Given the description of an element on the screen output the (x, y) to click on. 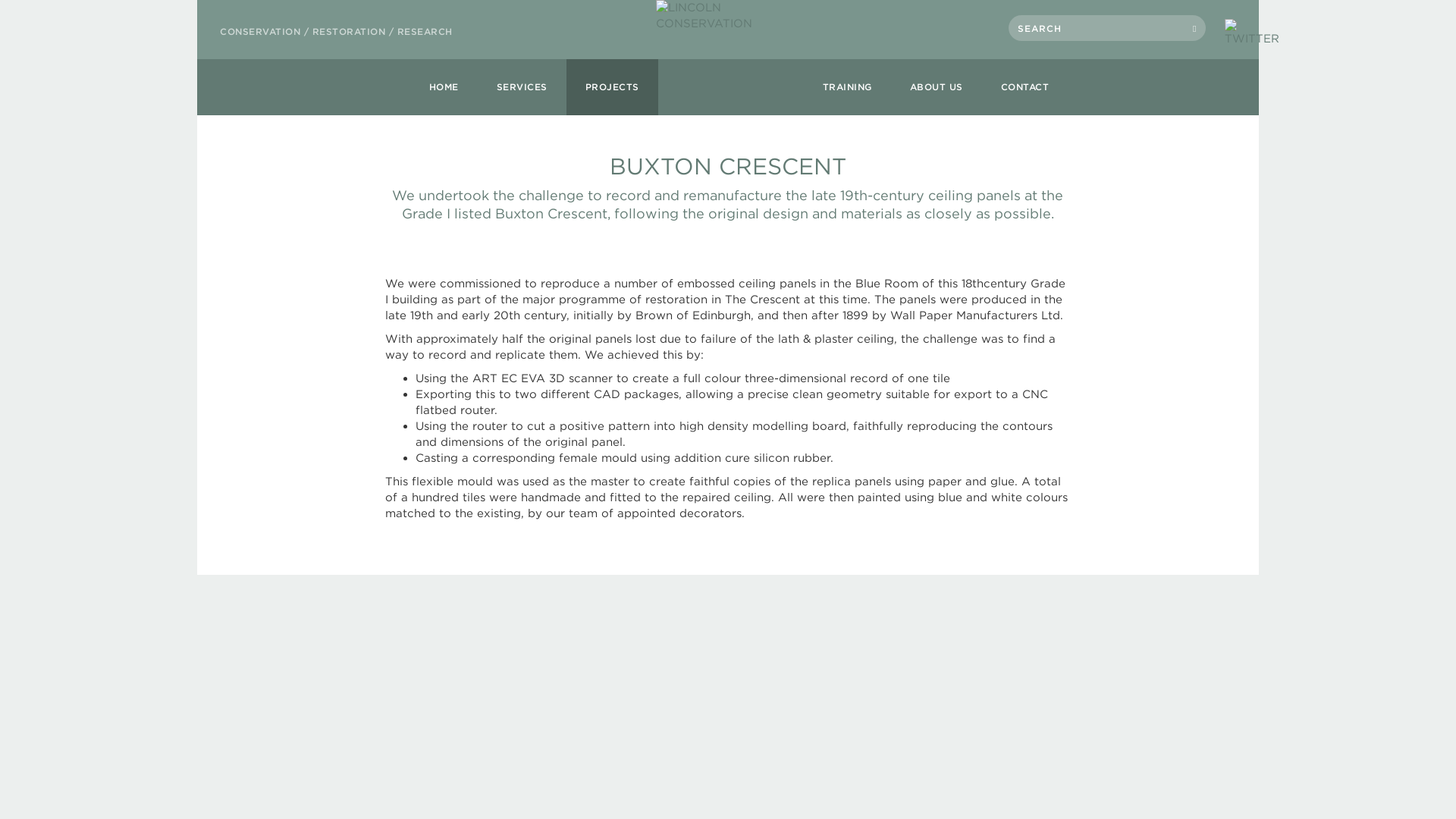
ABOUT US (936, 86)
TRAINING (847, 86)
PROJECTS (612, 86)
HOME (443, 86)
SERVICES (521, 86)
CONTACT (1024, 86)
